Given the description of an element on the screen output the (x, y) to click on. 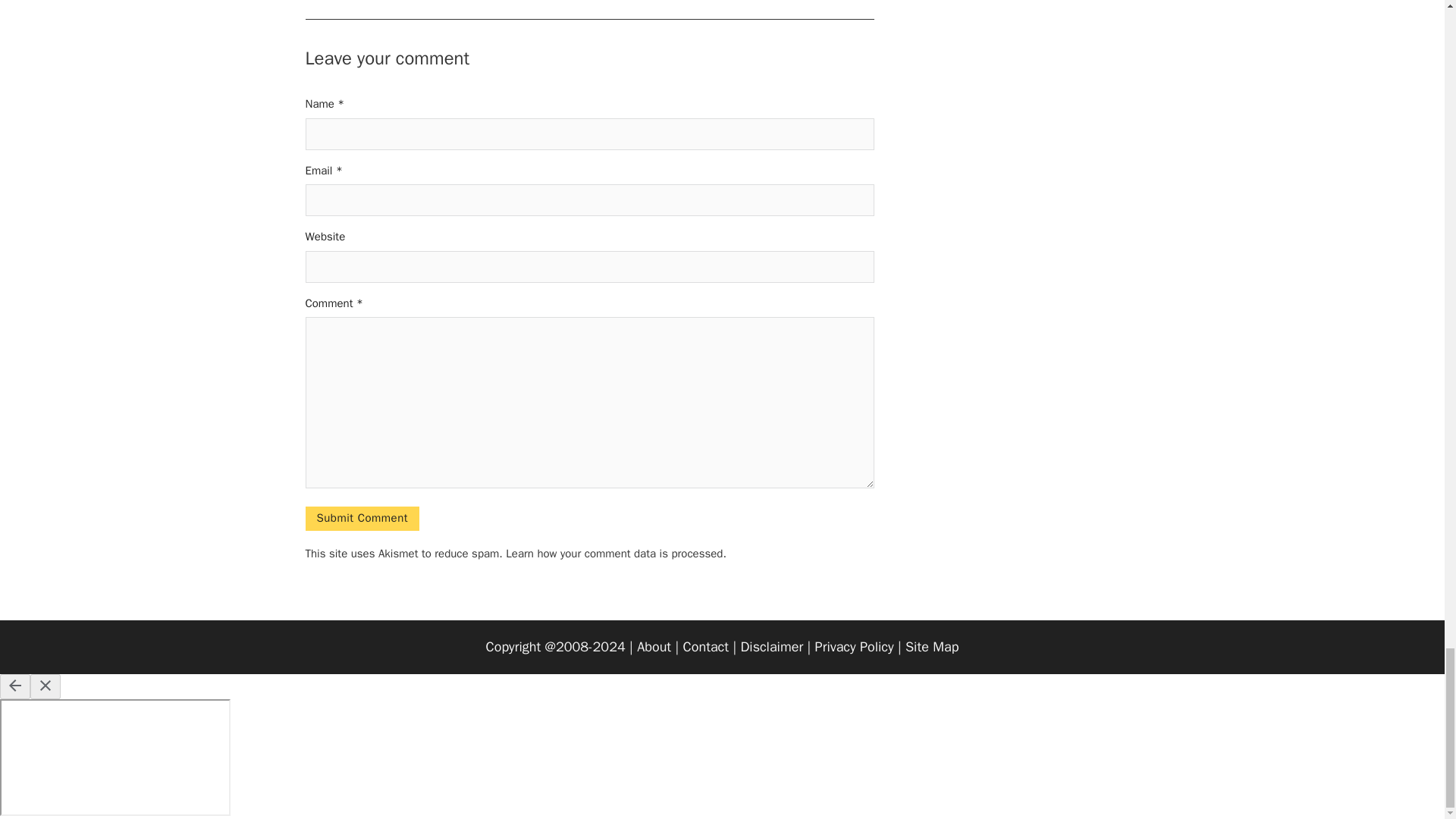
Learn how your comment data is processed (613, 553)
Submit Comment (361, 518)
Submit Comment (361, 518)
